Given the description of an element on the screen output the (x, y) to click on. 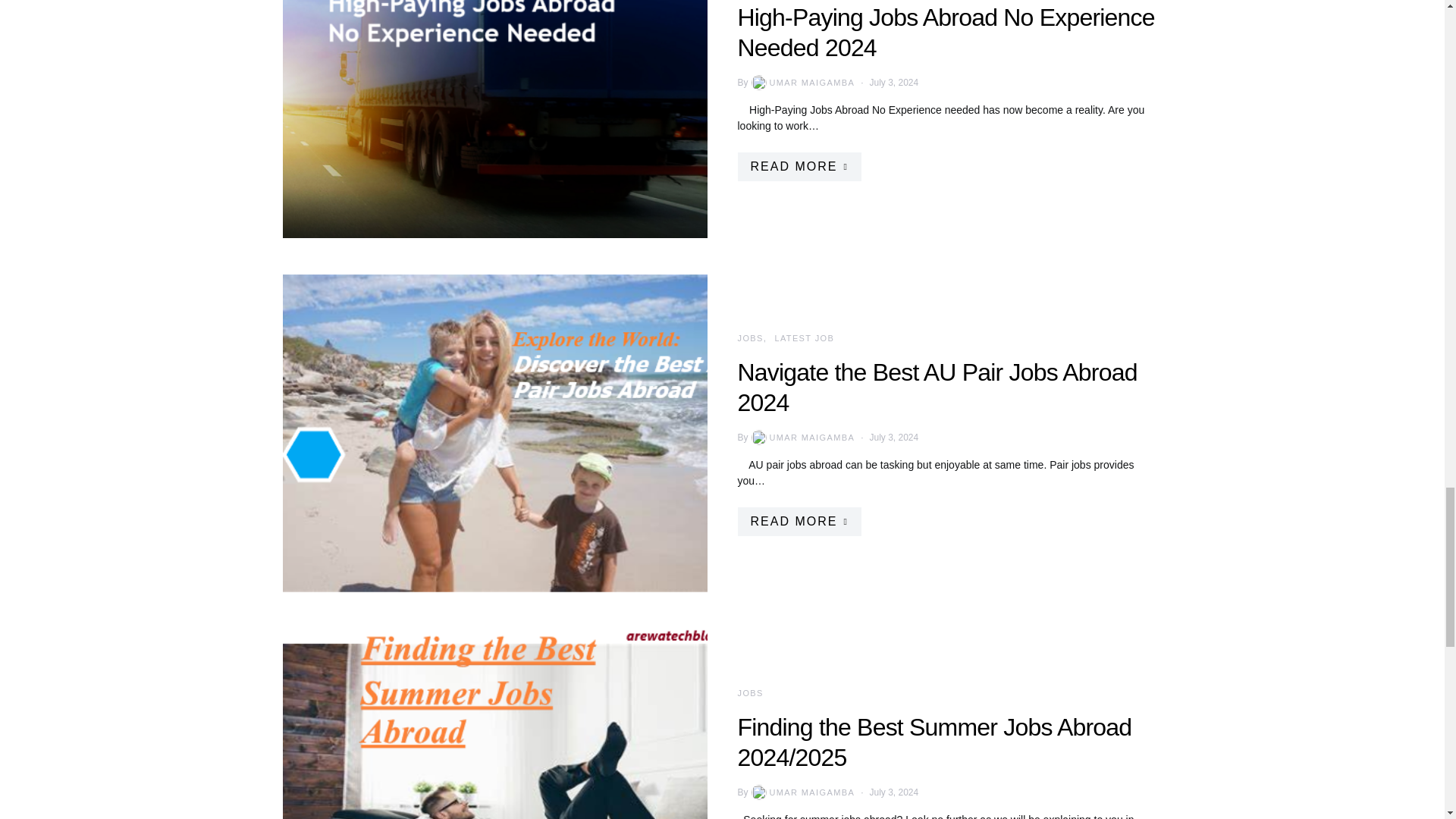
View all posts by Umar Maigamba (802, 82)
View all posts by Umar Maigamba (802, 792)
View all posts by Umar Maigamba (802, 437)
